Given the description of an element on the screen output the (x, y) to click on. 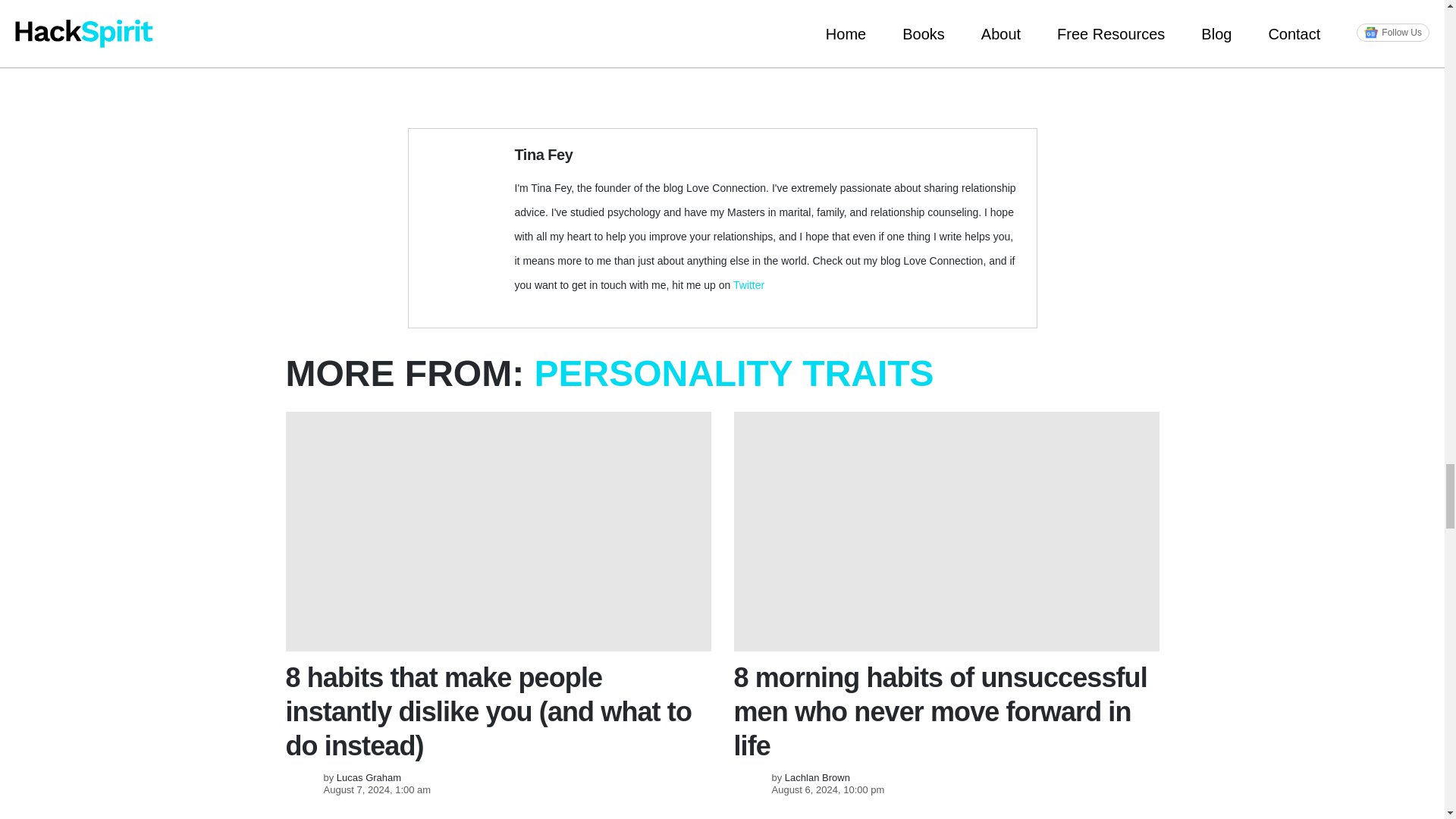
Posts by Lucas Graham (368, 777)
Posts by Lachlan Brown (817, 777)
